Given the description of an element on the screen output the (x, y) to click on. 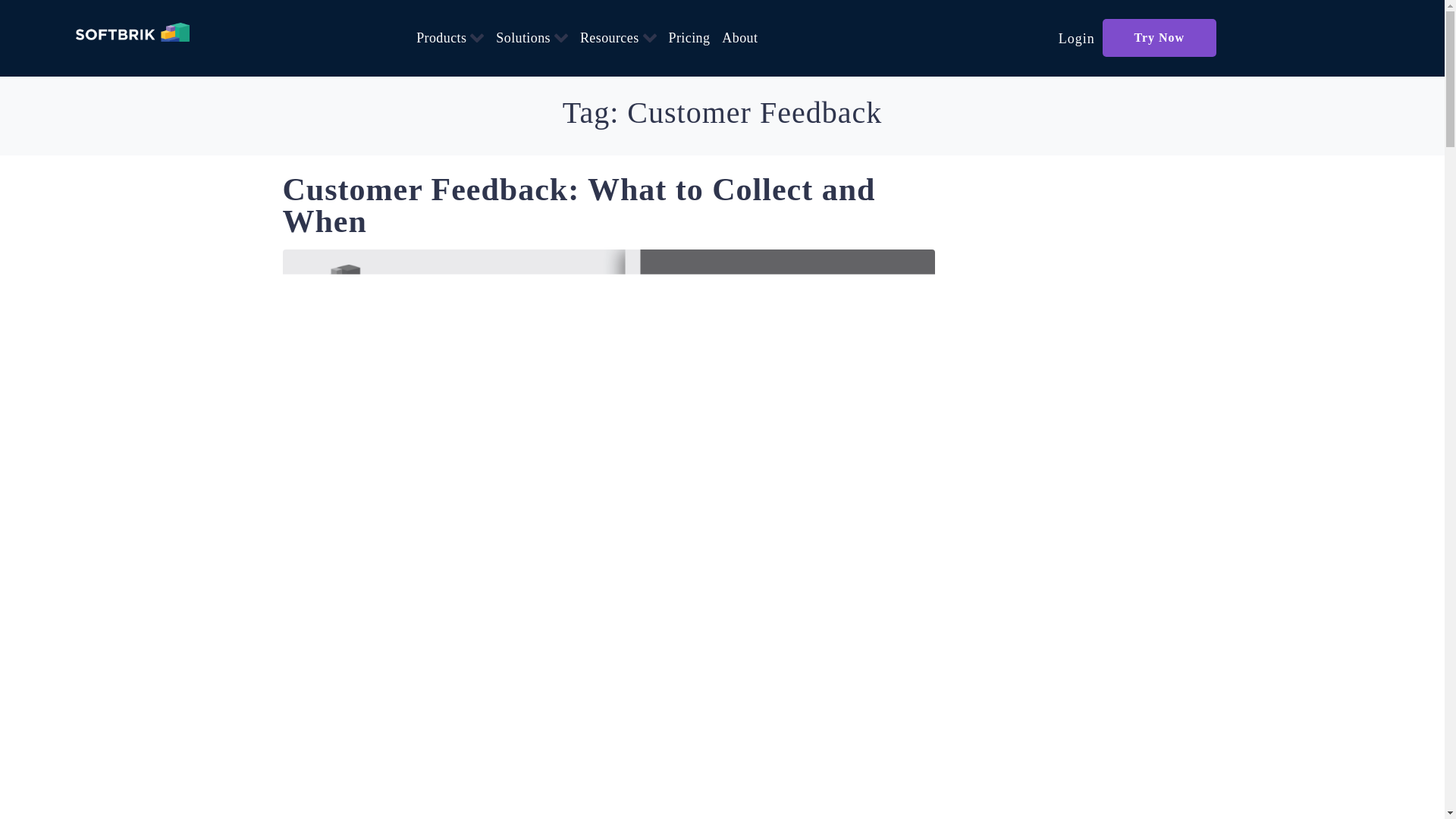
Customer Feedback: What to Collect and When (578, 205)
Resources (609, 37)
Solutions (523, 37)
Products (440, 37)
Customer Feedback: What to Collect and When (608, 574)
